Given the description of an element on the screen output the (x, y) to click on. 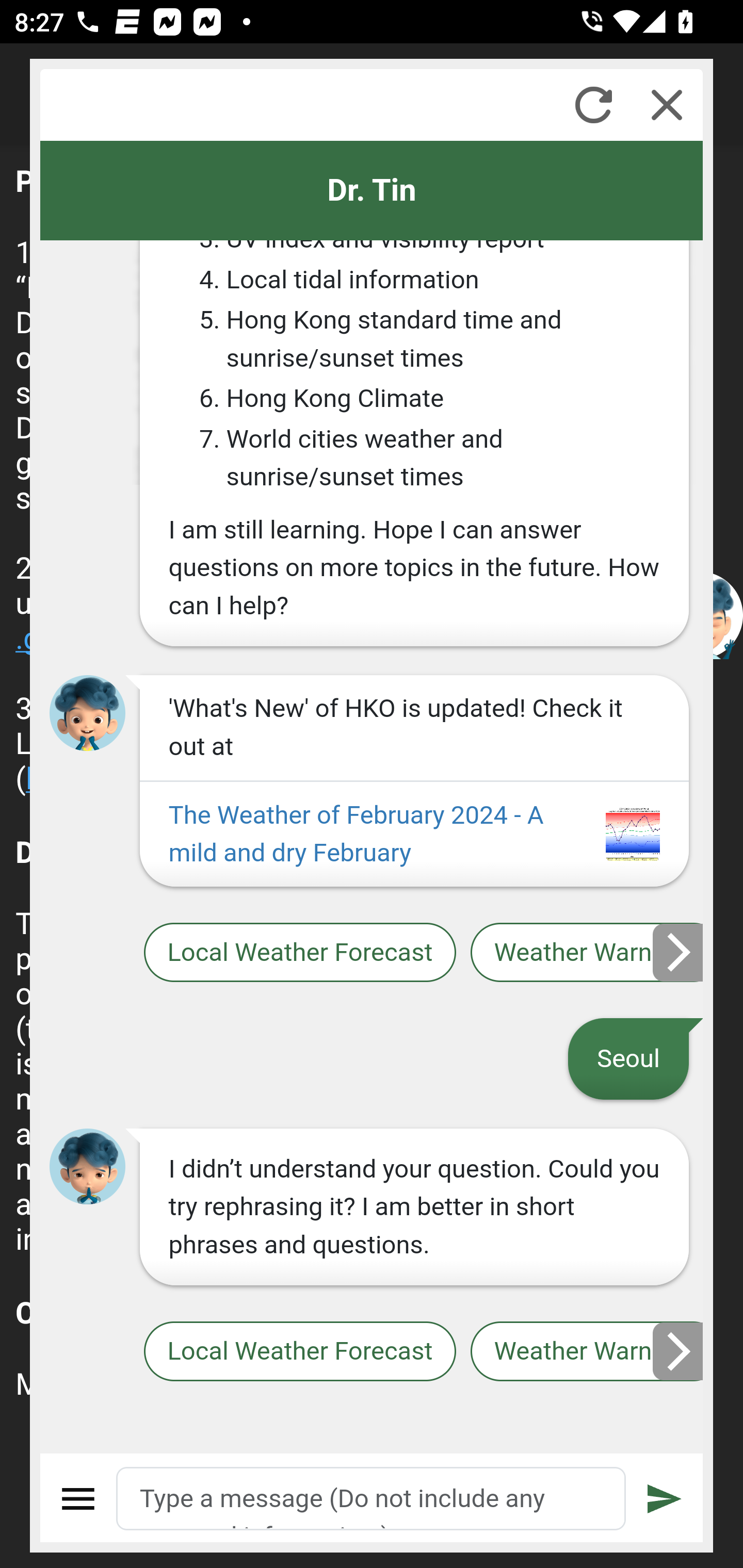
Refresh (593, 104)
Close (666, 104)
Local Weather Forecast (299, 951)
Weather Warnings (587, 951)
Next slide (678, 951)
Local Weather Forecast (299, 1351)
Weather Warnings (587, 1351)
Next slide (678, 1351)
Menu (78, 1498)
Submit (665, 1498)
